Given the description of an element on the screen output the (x, y) to click on. 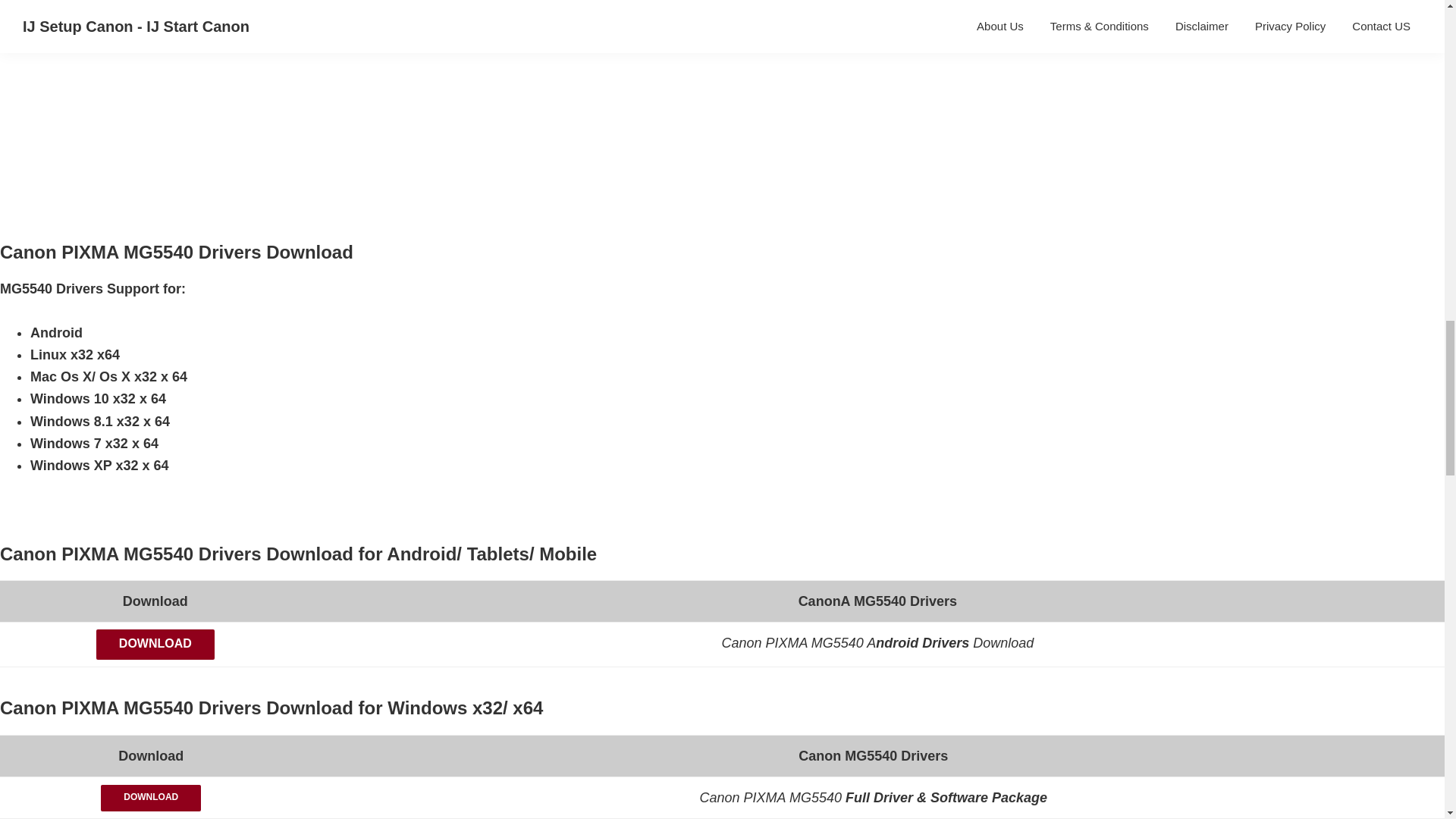
DOWNLOAD (150, 797)
DOWNLOAD (155, 644)
DOWNLOAD (150, 797)
DOWNLOAD (155, 647)
